Given the description of an element on the screen output the (x, y) to click on. 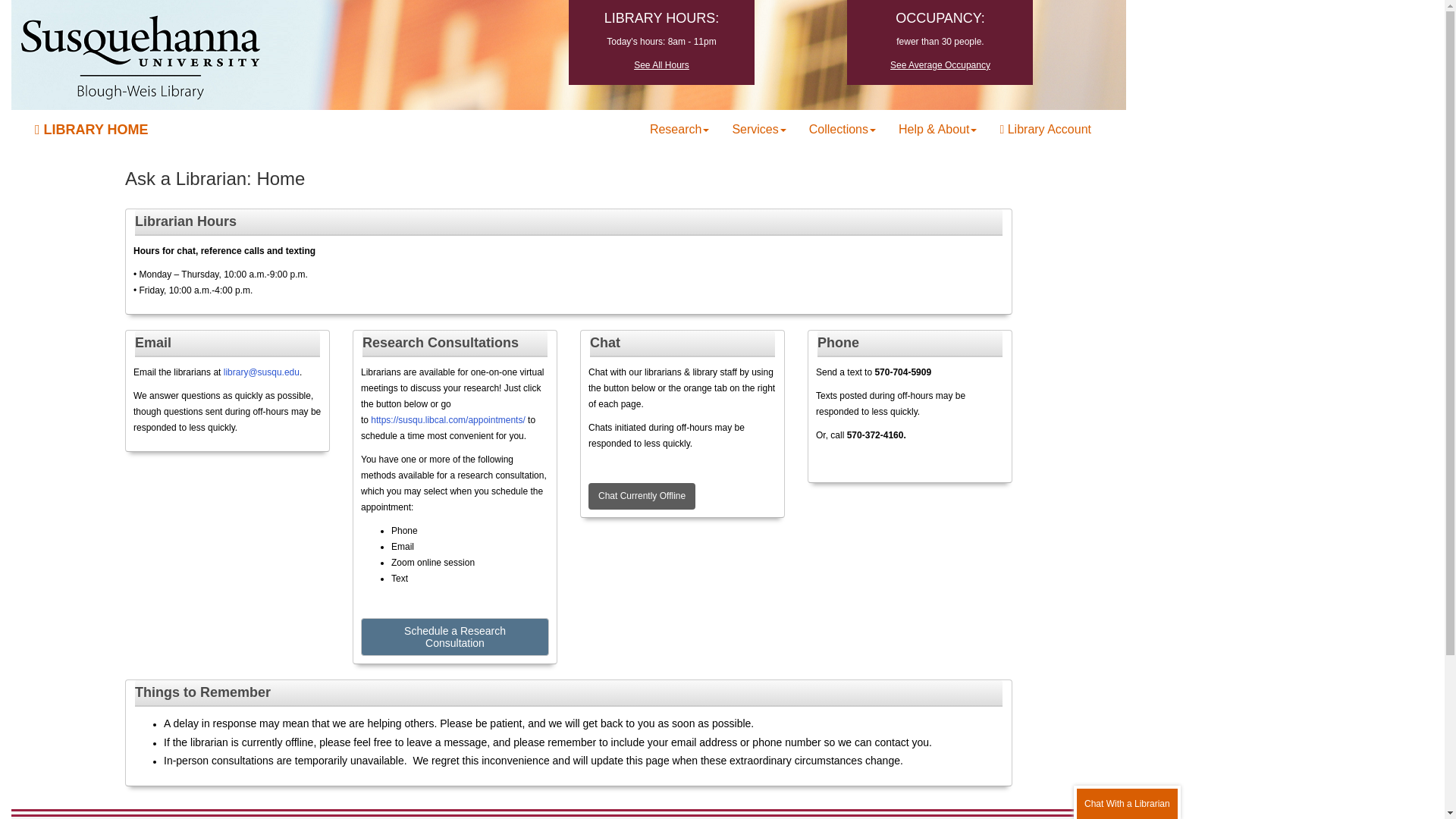
Library Account (1045, 129)
See All Hours (660, 64)
Collections (841, 129)
Research (679, 129)
LIBRARY HOME (91, 129)
See Average Occupancy (939, 64)
Services (758, 129)
